Given the description of an element on the screen output the (x, y) to click on. 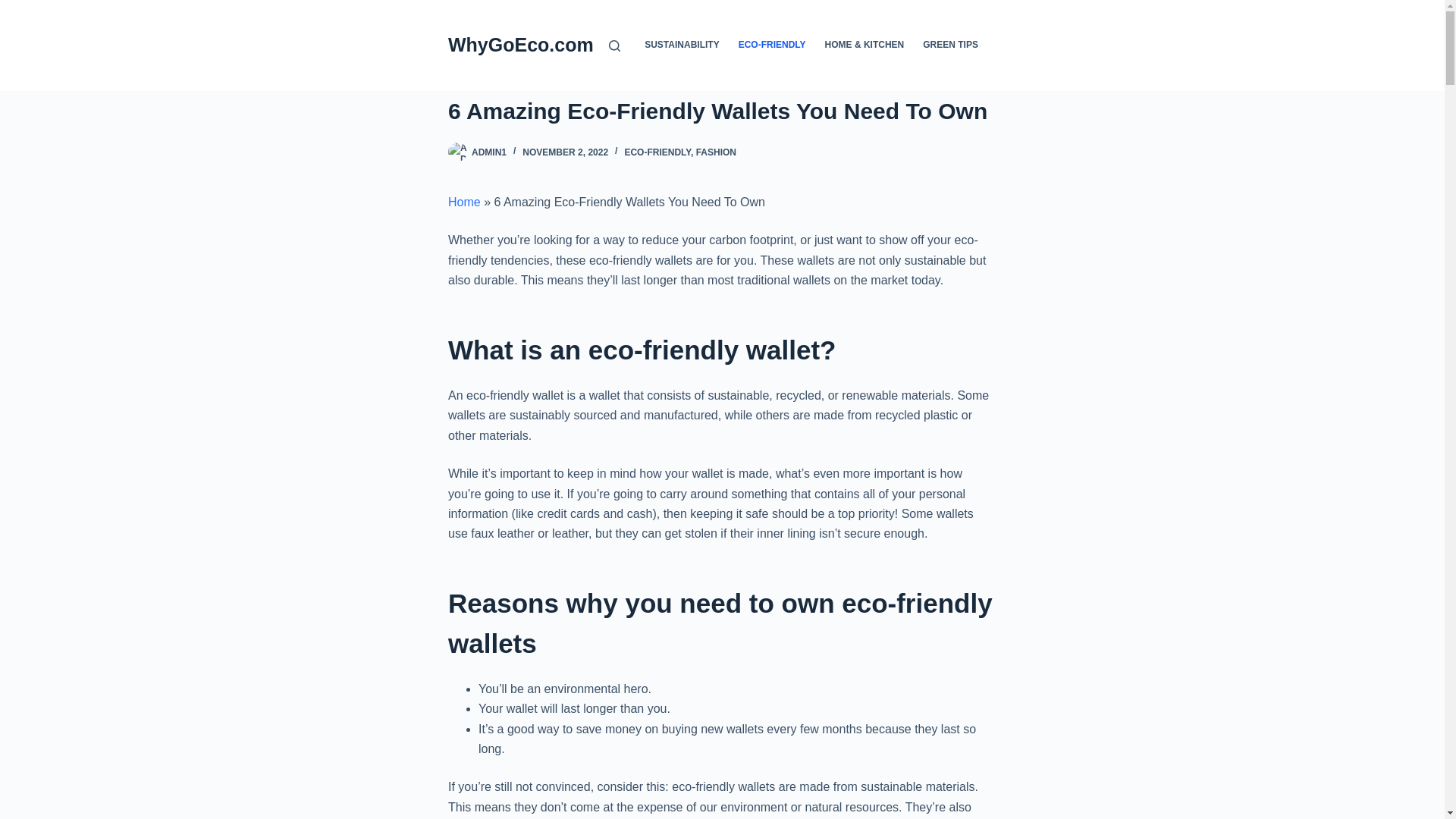
ECO-FRIENDLY (772, 45)
Posts by admin1 (488, 152)
FASHION (715, 152)
SUSTAINABILITY (681, 45)
Home (464, 201)
Skip to content (15, 7)
WhyGoEco.com (521, 44)
ECO-FRIENDLY (657, 152)
6 Amazing Eco-Friendly Wallets You Need To Own (721, 110)
ADMIN1 (488, 152)
